Given the description of an element on the screen output the (x, y) to click on. 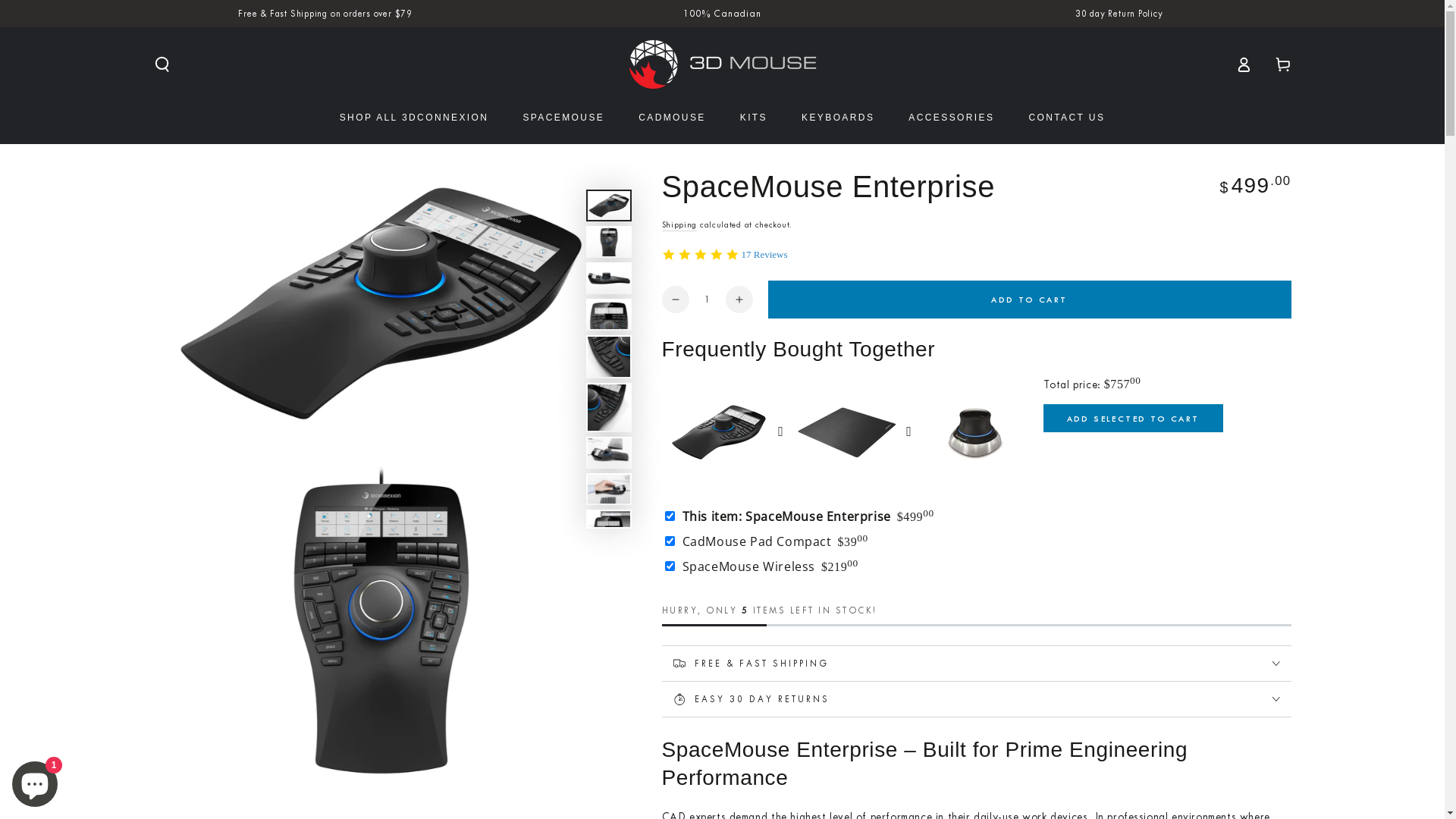
Shopify online store chat Element type: hover (34, 780)
SpaceMouse Wireless Element type: text (745, 566)
Open media 2 in modal Element type: text (380, 621)
CadMouse Pad Compact Element type: text (754, 541)
Open media 1 in modal Element type: text (380, 303)
ACCESSORIES Element type: text (951, 117)
SHOP ALL 3DCONNEXION Element type: text (414, 117)
ADD SELECTED TO CART Element type: text (1133, 418)
Shipping Element type: text (678, 225)
CONTACT US Element type: text (1066, 117)
SPACEMOUSE Element type: text (563, 117)
ADD TO CART Element type: text (1028, 299)
SKIP TO PRODUCT INFORMATION Element type: text (244, 162)
Free & Fast Shipping on orders over $79 Element type: text (324, 13)
Log in Element type: text (1243, 64)
Increase quantity for SpaceMouse Enterprise Element type: text (738, 299)
CADMOUSE Element type: text (672, 117)
KITS Element type: text (753, 117)
17 Reviews Element type: text (764, 254)
KEYBOARDS Element type: text (837, 117)
Decrease quantity for SpaceMouse Enterprise Element type: text (674, 299)
